Given the description of an element on the screen output the (x, y) to click on. 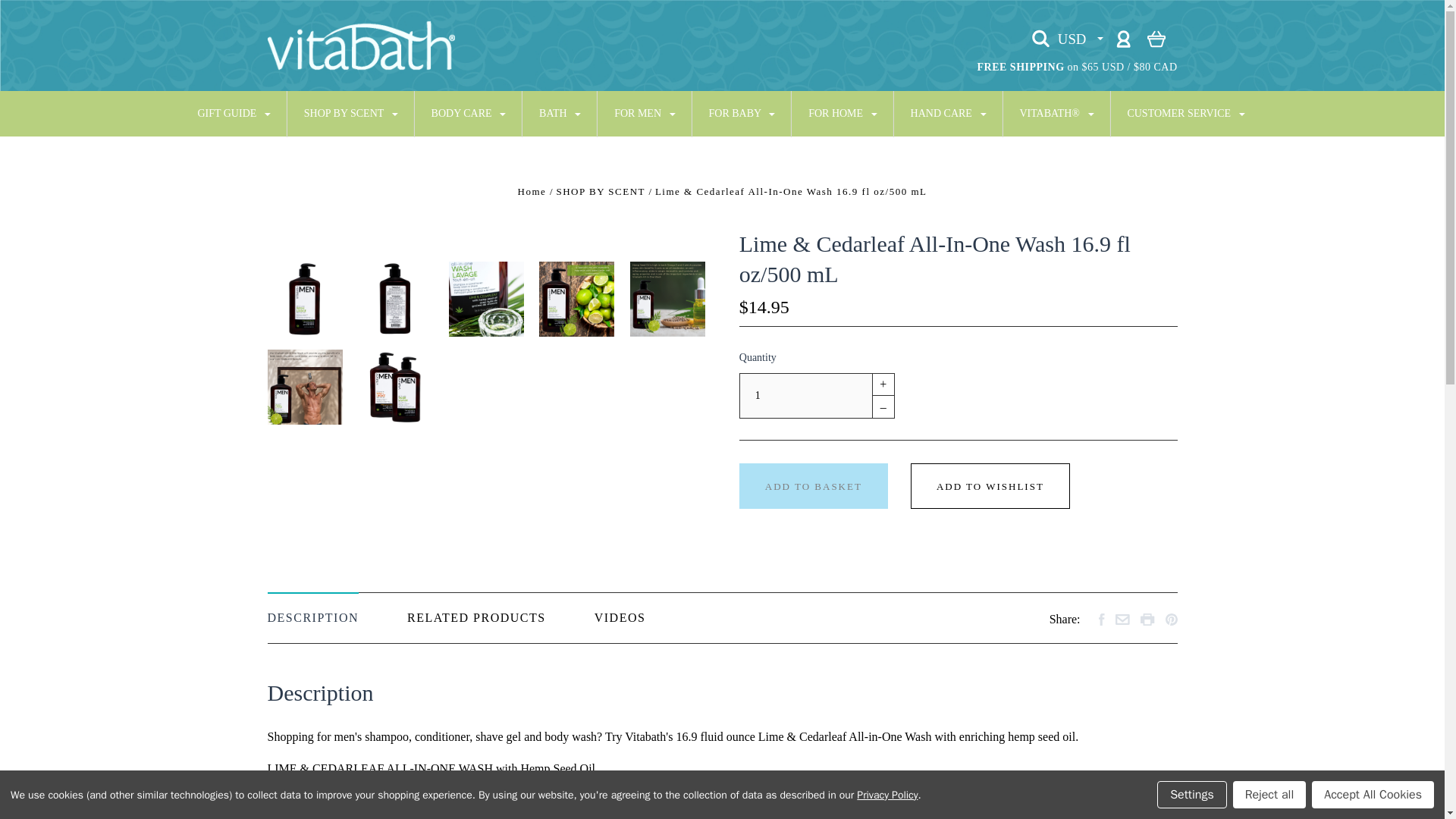
0 (1156, 37)
GIFT GUIDE (234, 113)
email (1122, 619)
SHOP BY SCENT (351, 113)
pinterest (1170, 619)
1 (805, 395)
printer (1147, 619)
BODY CARE (469, 113)
